Given the description of an element on the screen output the (x, y) to click on. 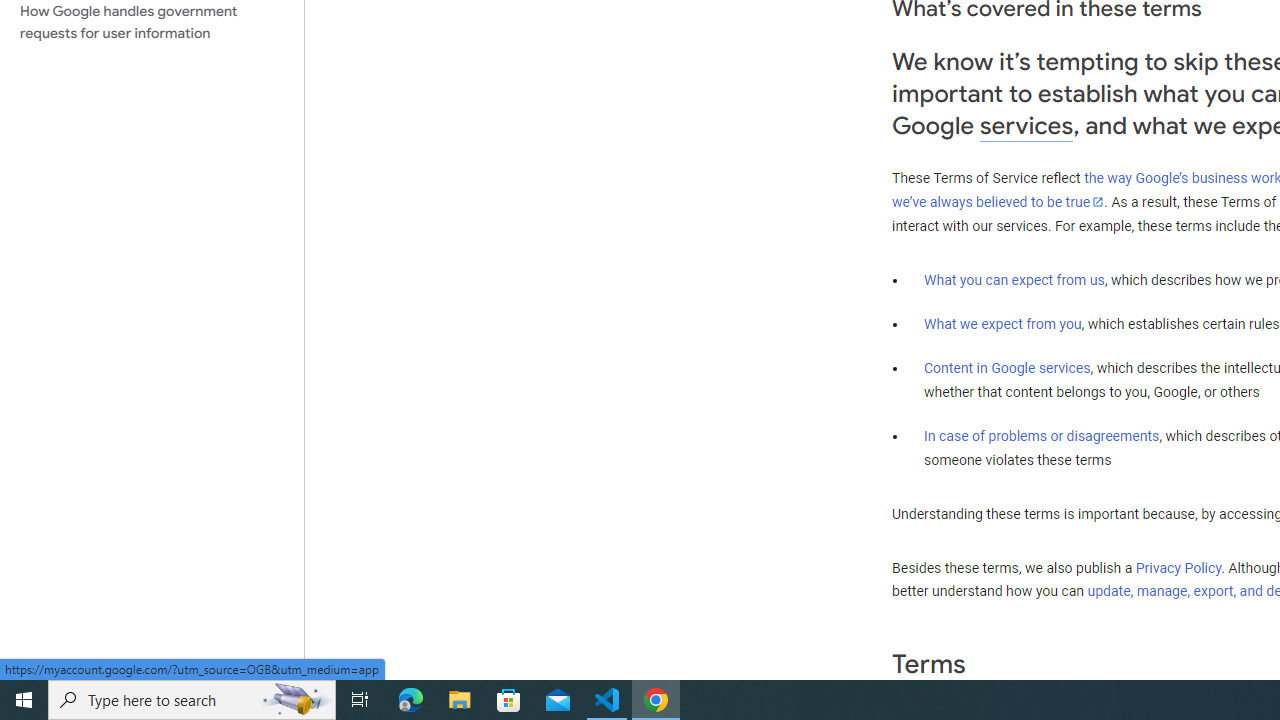
In case of problems or disagreements (1041, 435)
services (1026, 125)
What you can expect from us (1014, 279)
Privacy Policy (1178, 567)
Content in Google services (1007, 368)
What we expect from you (1002, 323)
